Given the description of an element on the screen output the (x, y) to click on. 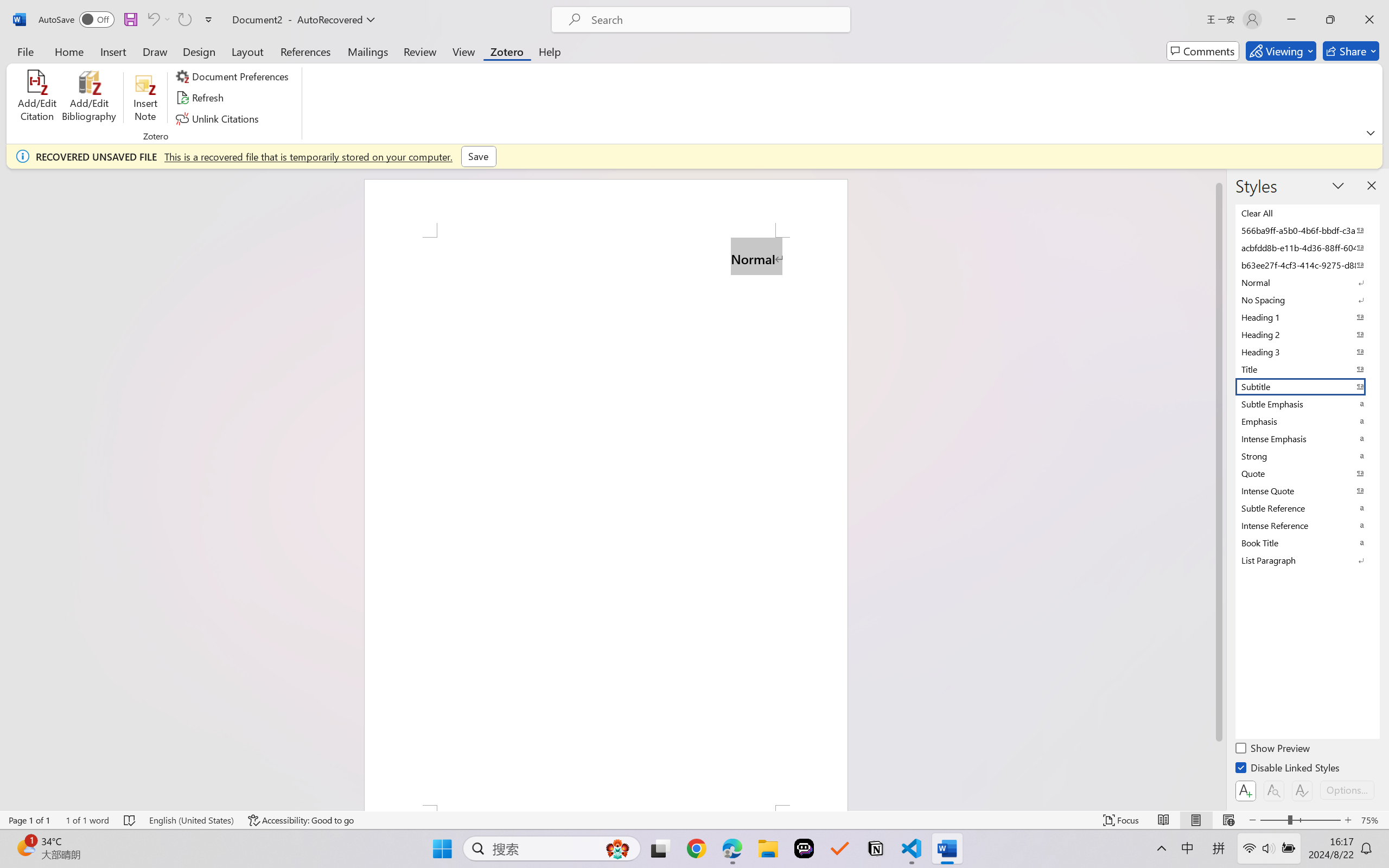
Intense Reference (1306, 525)
Add/Edit Bibliography (88, 97)
Add/Edit Citation (37, 97)
acbfdd8b-e11b-4d36-88ff-6049b138f862 (1306, 247)
Can't Undo (152, 19)
Microsoft search (715, 19)
List Paragraph (1306, 560)
